Given the description of an element on the screen output the (x, y) to click on. 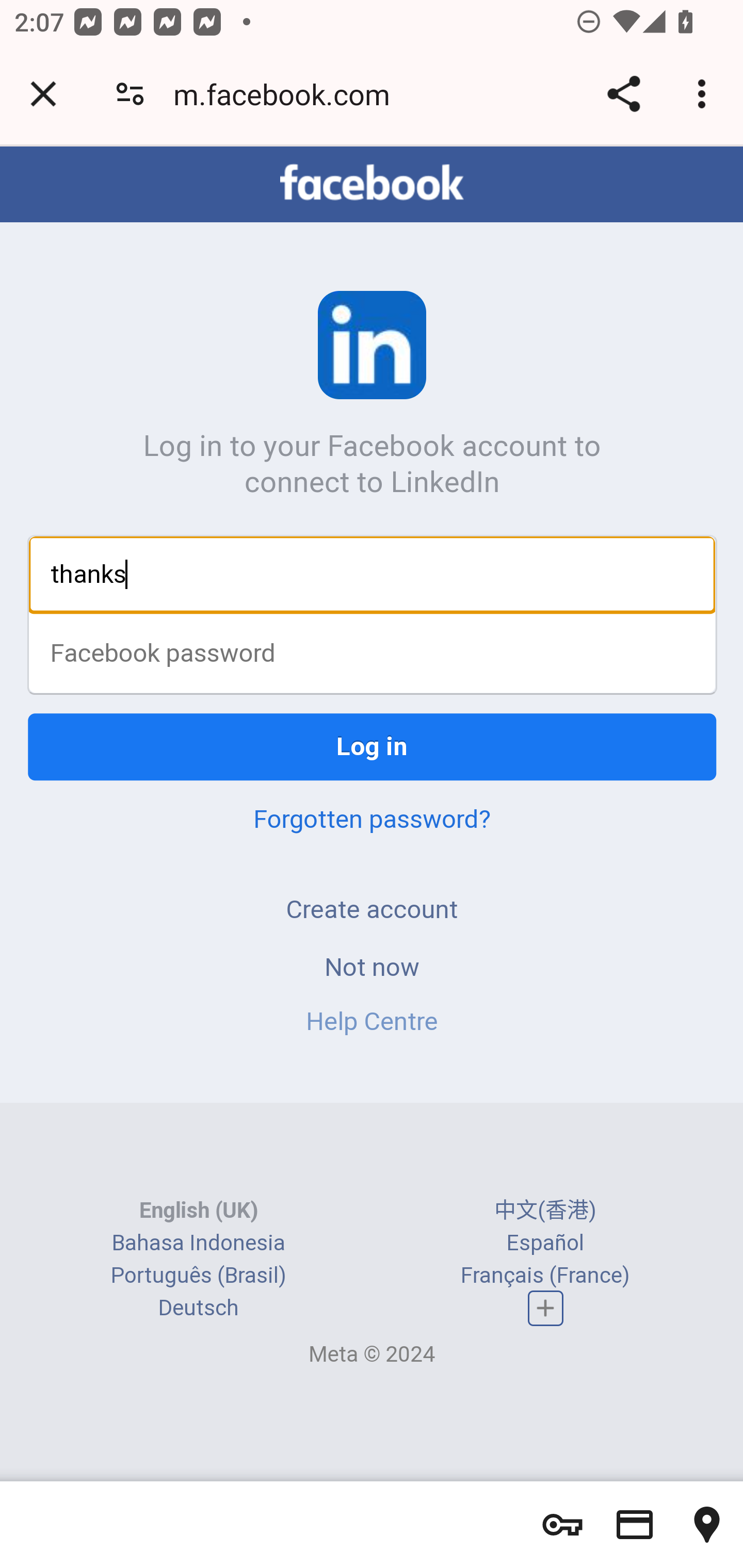
Close tab (43, 93)
Share (623, 93)
Customize and control Google Chrome (705, 93)
Connection is secure (129, 93)
m.facebook.com (288, 93)
facebook (371, 183)
thanks (372, 575)
Log in (372, 747)
Forgotten password? (371, 819)
Create account (371, 910)
Not now (371, 968)
Help Centre (371, 1022)
中文(香港) (544, 1211)
Bahasa Indonesia (198, 1243)
Español (545, 1243)
Português (Brasil) (197, 1276)
Français (France) (544, 1276)
Complete list of languages (545, 1309)
Deutsch (197, 1309)
Show saved passwords and password options (562, 1524)
Show saved payment methods (634, 1524)
Show saved addresses (706, 1524)
